Given the description of an element on the screen output the (x, y) to click on. 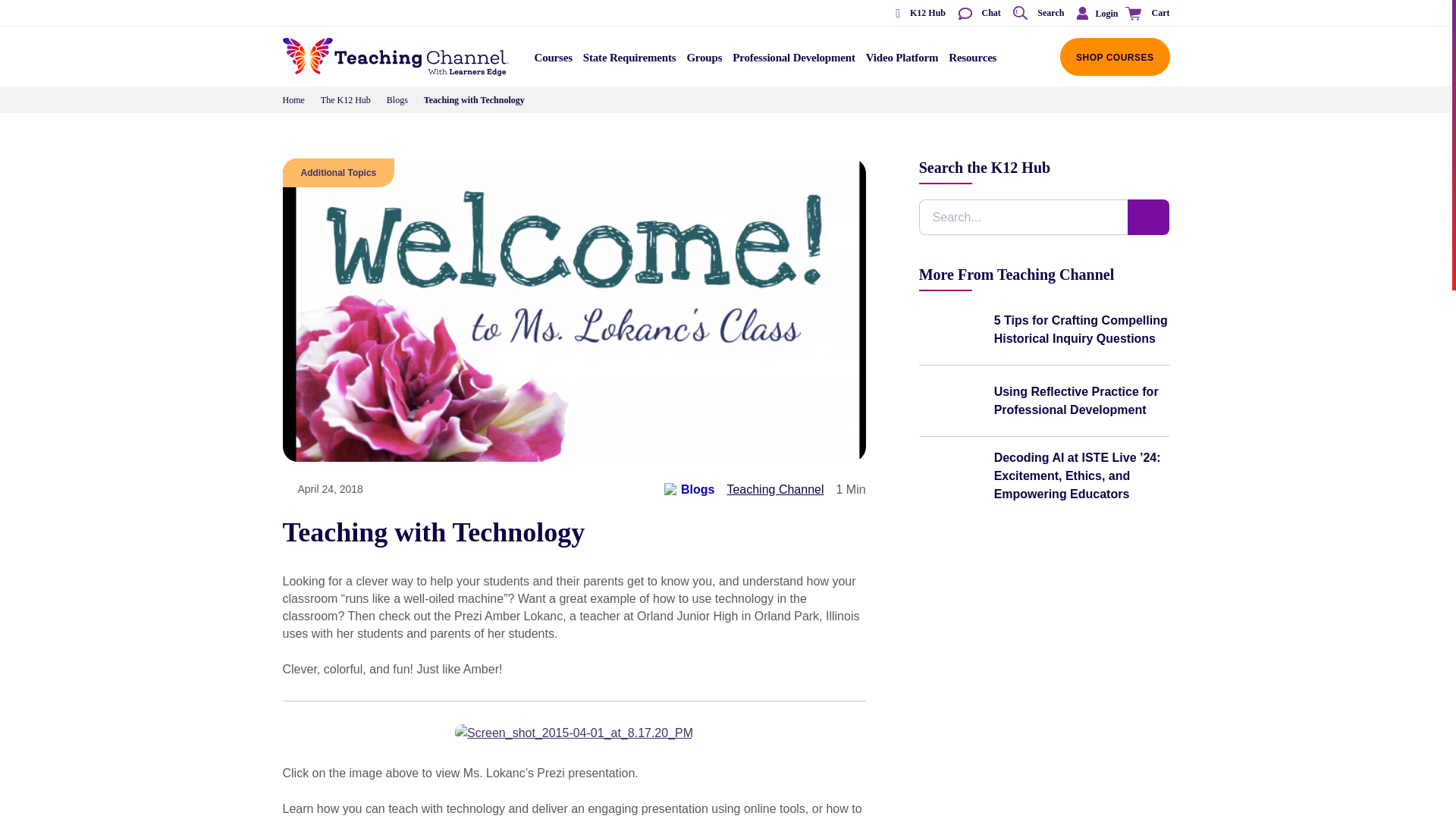
Chat (978, 13)
Search (1037, 13)
Cart (1145, 13)
Courses (553, 62)
State Requirements (629, 62)
Login (1093, 12)
K12 Hub (914, 13)
